Given the description of an element on the screen output the (x, y) to click on. 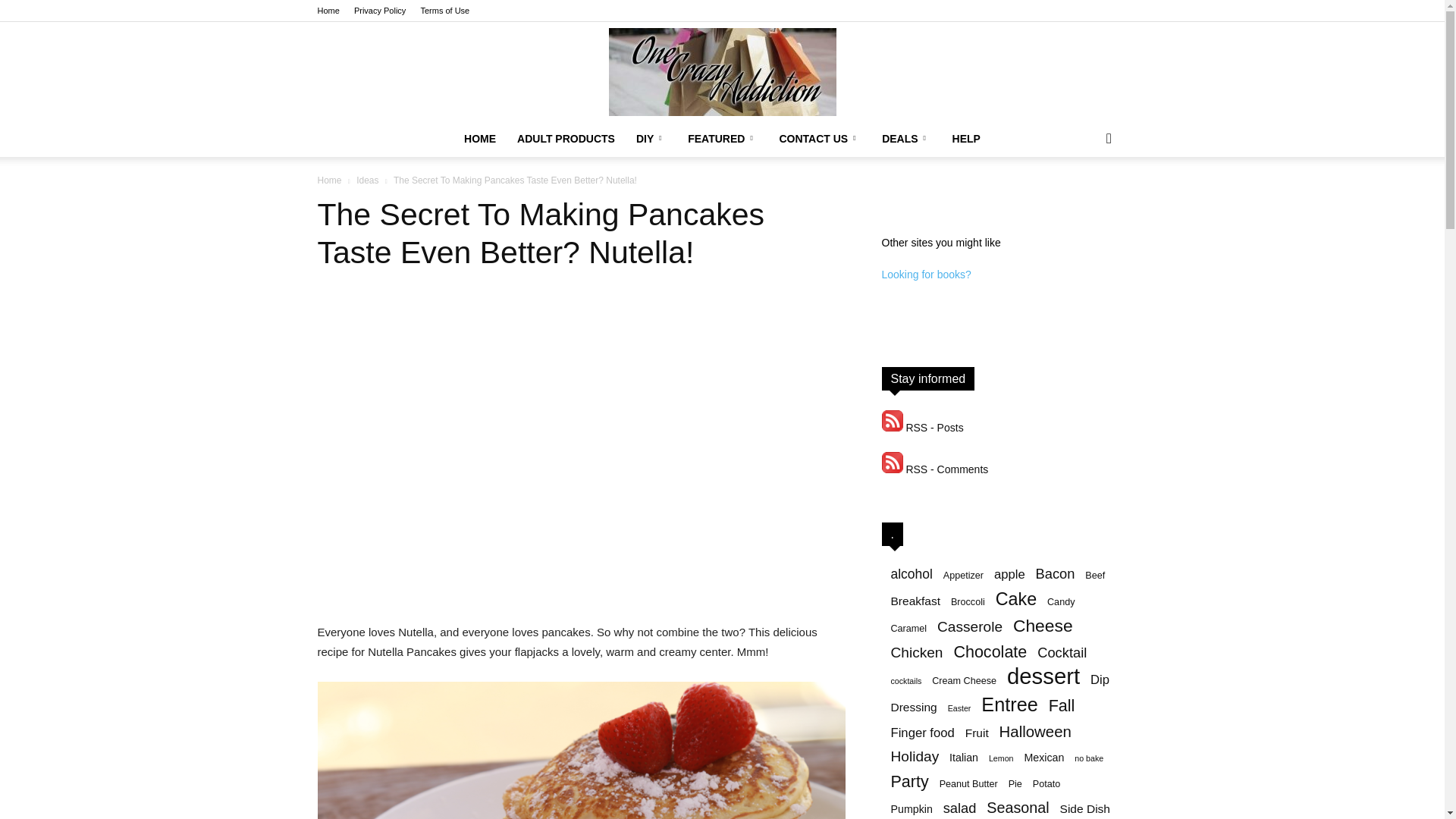
FEATURED (722, 138)
HOME (479, 138)
Subscribe to comments (934, 469)
DIY (651, 138)
ADULT PRODUCTS (566, 138)
View all posts in Ideas (367, 180)
Privacy Policy (379, 10)
CONTACT US (819, 138)
DEALS (905, 138)
Subscribe to posts (921, 427)
Home (328, 10)
Terms of Use (444, 10)
